Given the description of an element on the screen output the (x, y) to click on. 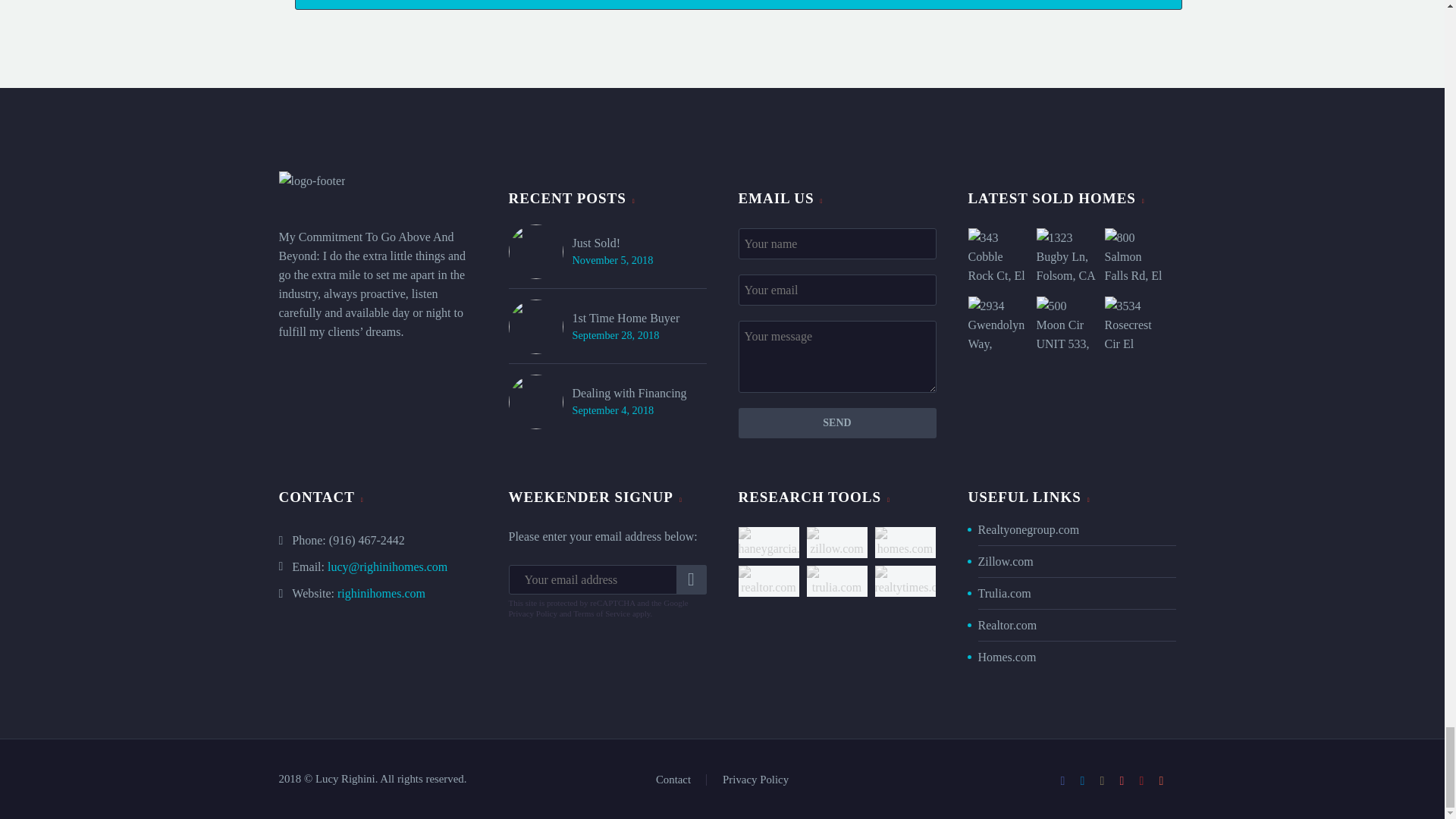
LinkedIn (1083, 780)
Facebook (1062, 780)
Pinterest (1122, 780)
Send (837, 422)
Instagram (1102, 780)
logo-footer (312, 180)
